Given the description of an element on the screen output the (x, y) to click on. 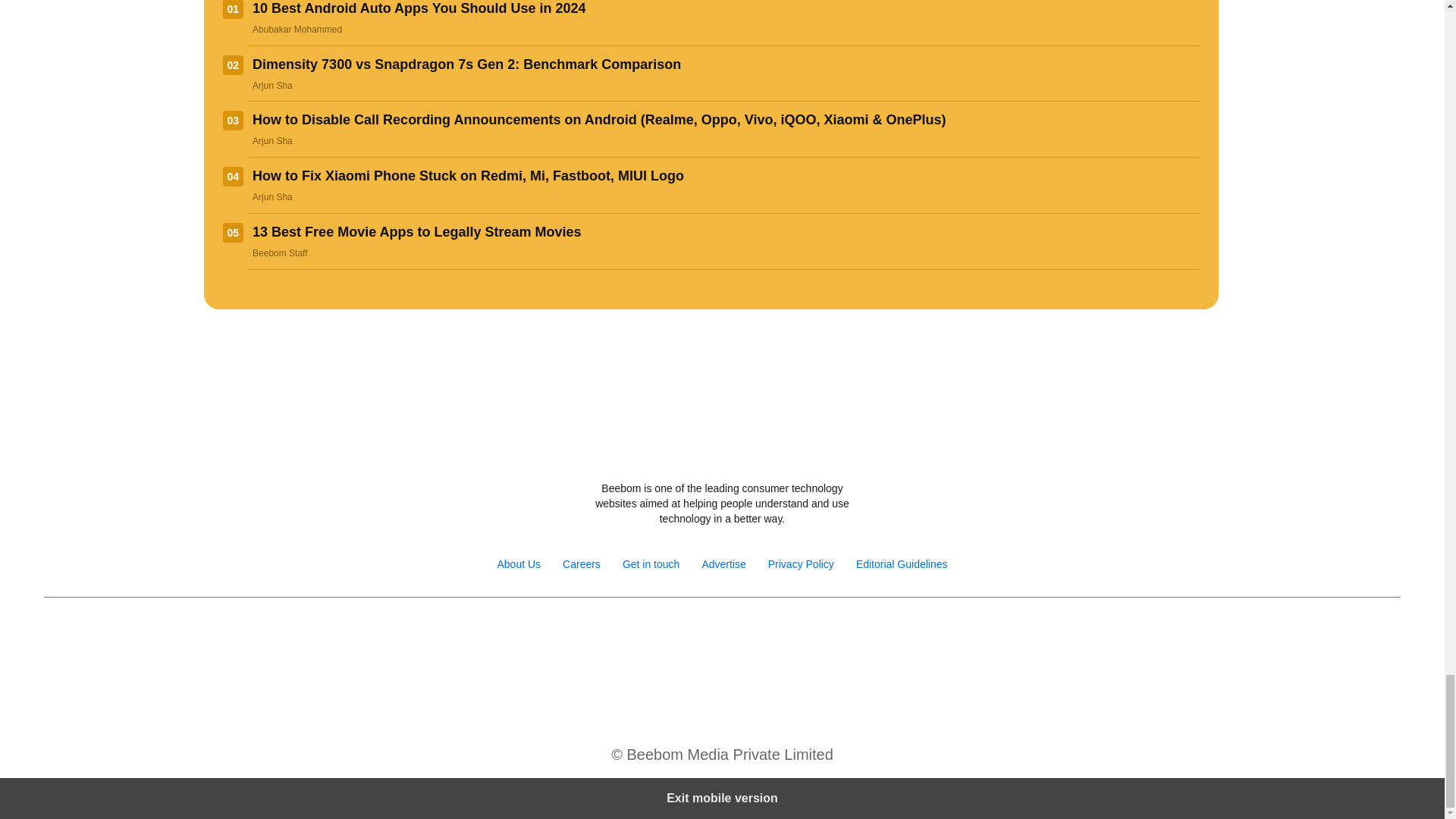
Twitter (706, 635)
Facebook (640, 635)
Beebom (721, 448)
Instagram (672, 635)
